Given the description of an element on the screen output the (x, y) to click on. 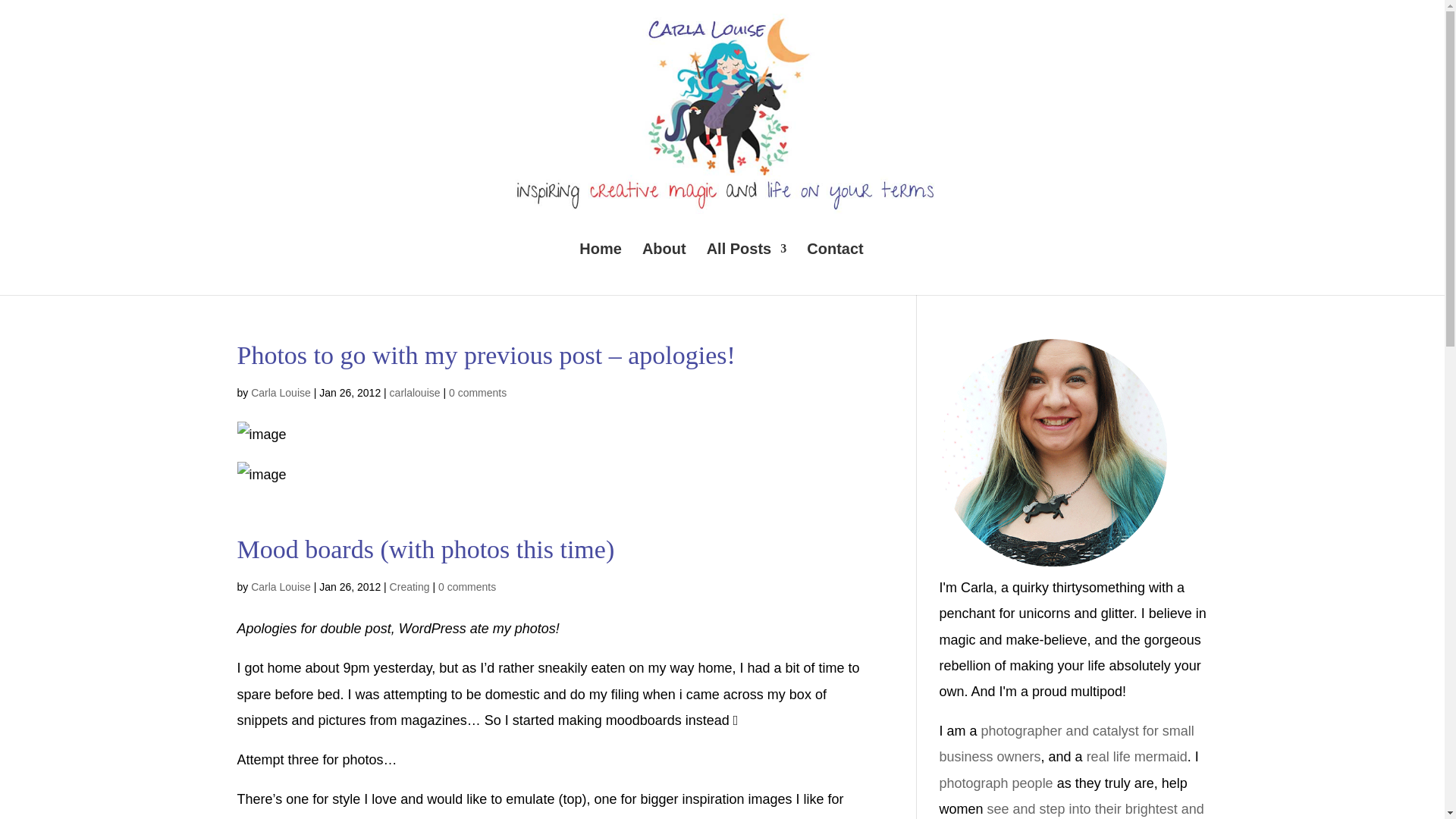
Carla Louise (280, 392)
Contact (834, 268)
Creating (409, 586)
photograph people (995, 782)
Posts by Carla Louise (280, 392)
IMAG0076.jpg (260, 434)
carlalouise (415, 392)
0 comments (477, 392)
IMAG0075.jpg (260, 474)
real life mermaid (1137, 756)
All Posts (746, 268)
photographer and catalyst for small business owners (1066, 743)
0 comments (467, 586)
Posts by Carla Louise (280, 586)
Carla Louise (280, 586)
